Given the description of an element on the screen output the (x, y) to click on. 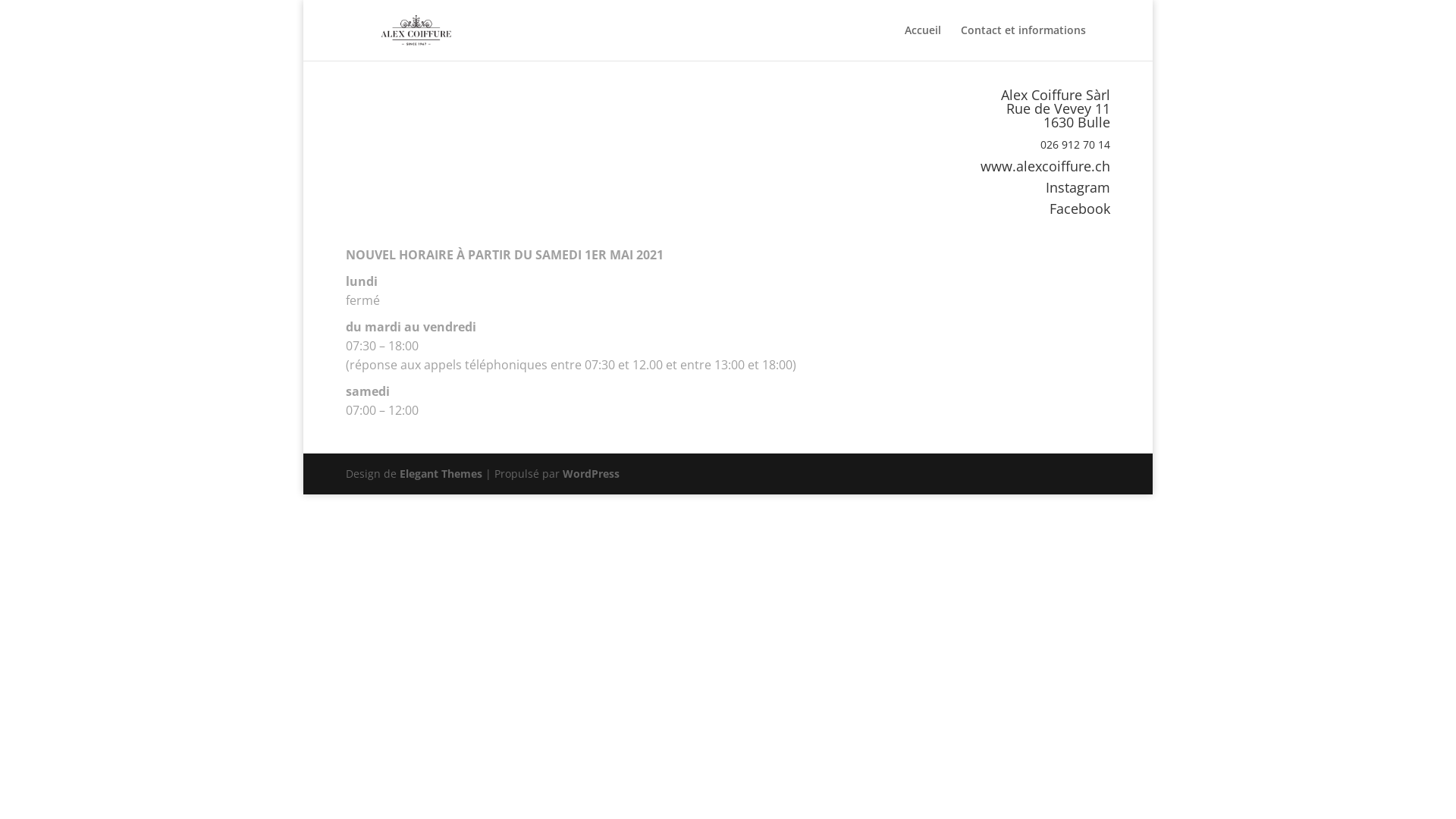
Facebook Element type: text (1079, 208)
Elegant Themes Element type: text (440, 473)
Accueil Element type: text (922, 42)
Instagram Element type: text (1077, 187)
Contact et informations Element type: text (1022, 42)
WordPress Element type: text (590, 473)
